Given the description of an element on the screen output the (x, y) to click on. 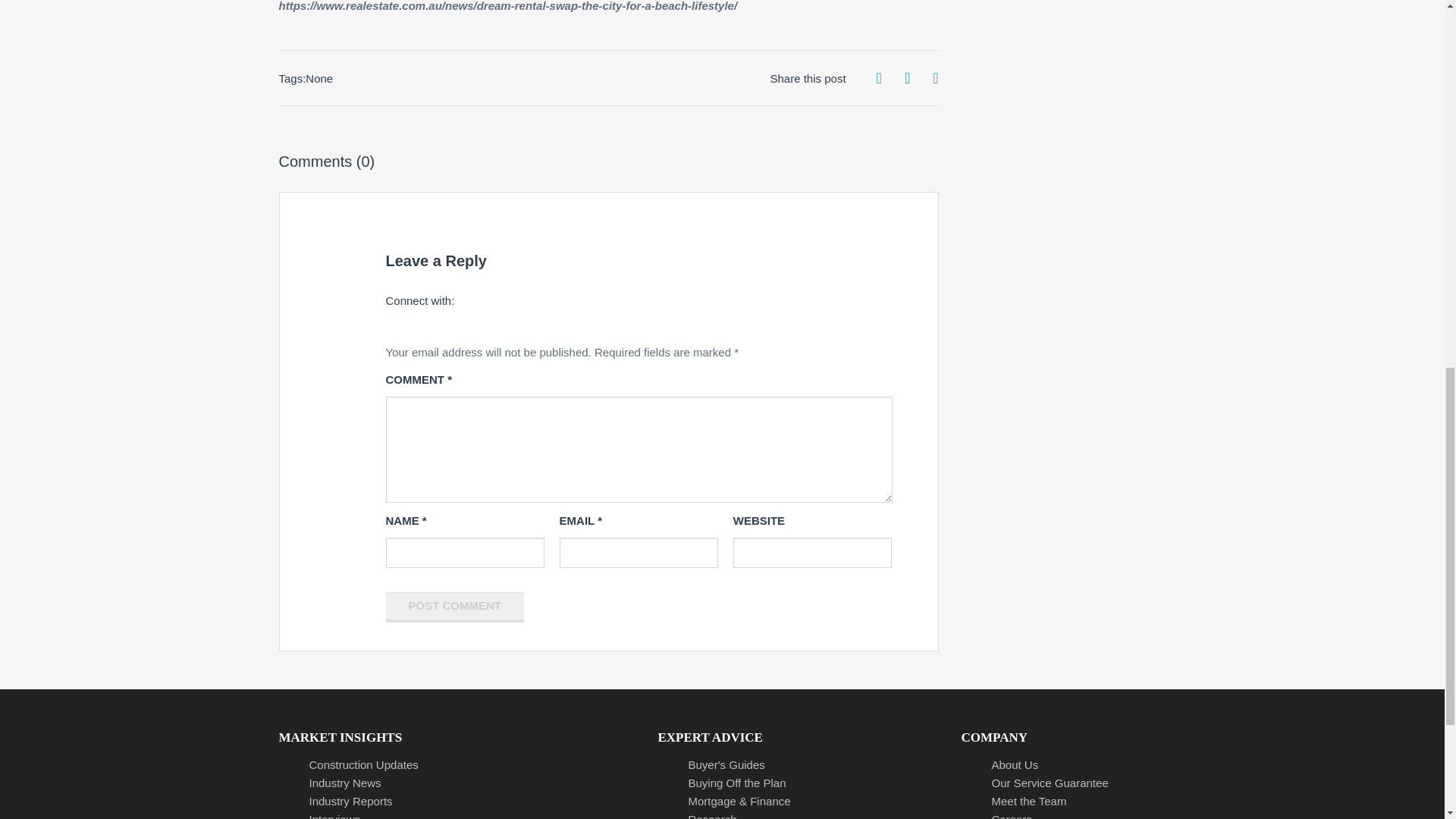
Post Comment (454, 607)
